Given the description of an element on the screen output the (x, y) to click on. 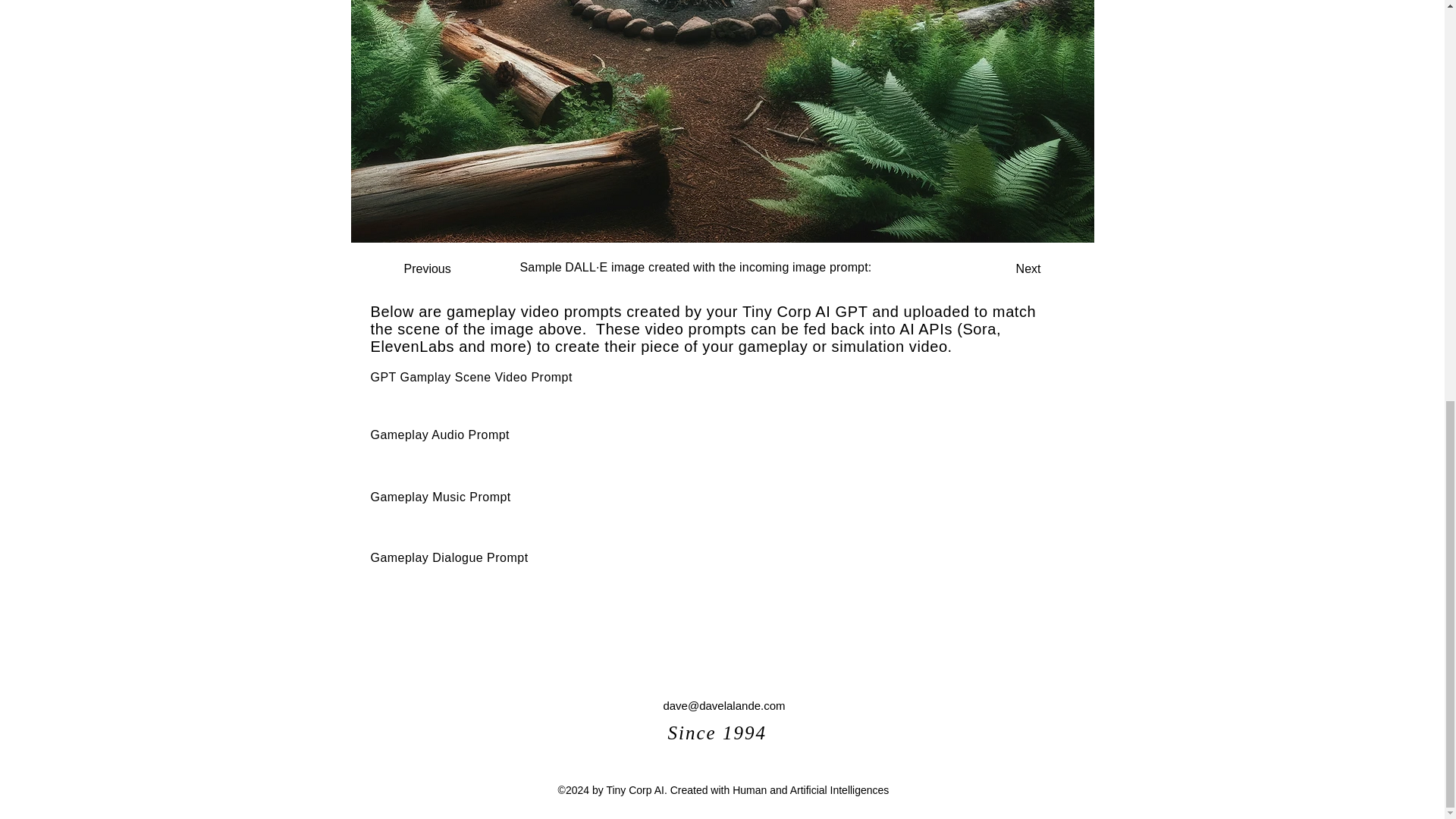
Previous (453, 268)
Next (1002, 268)
